Given the description of an element on the screen output the (x, y) to click on. 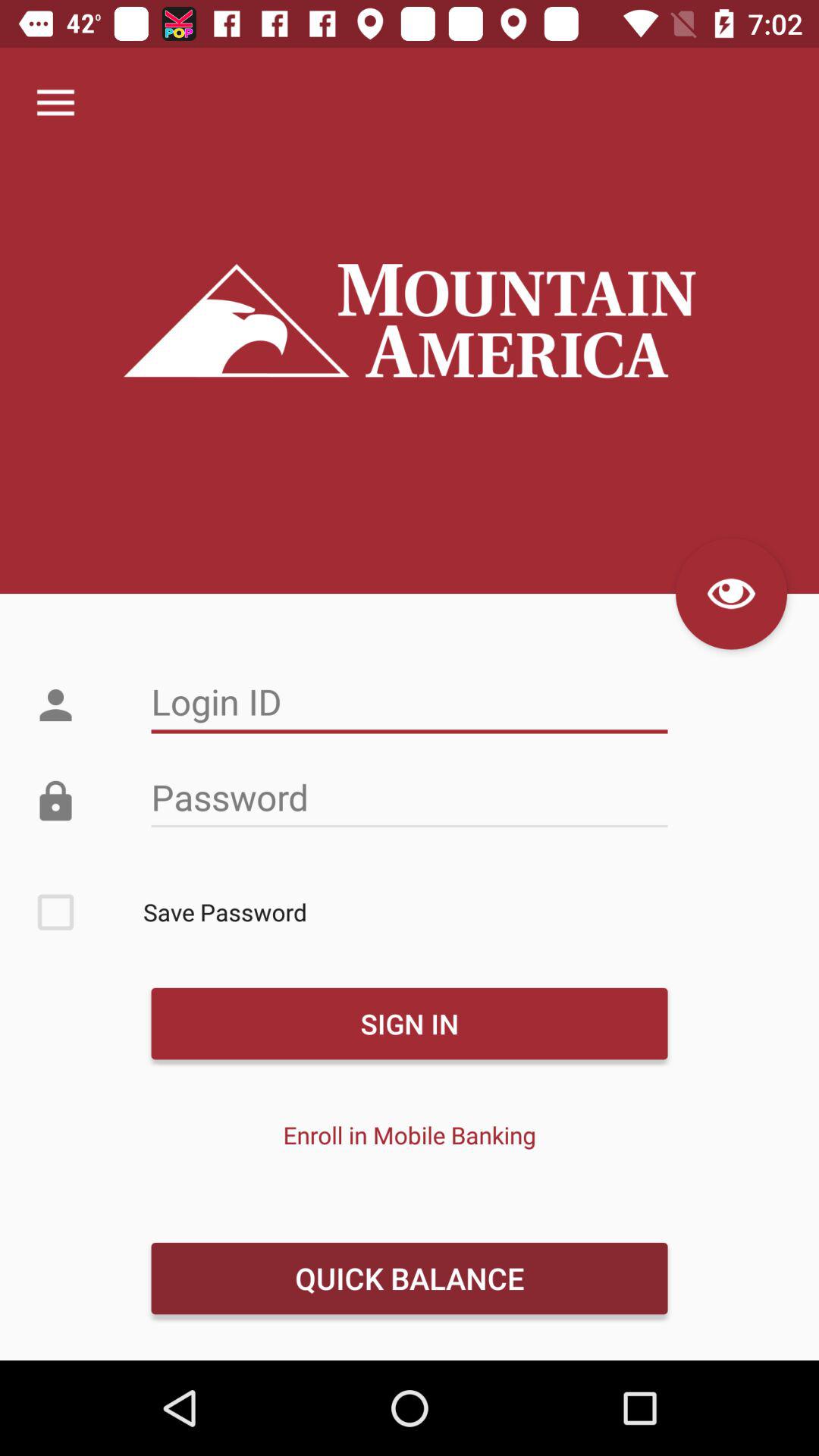
press the item above quick balance icon (409, 1134)
